Given the description of an element on the screen output the (x, y) to click on. 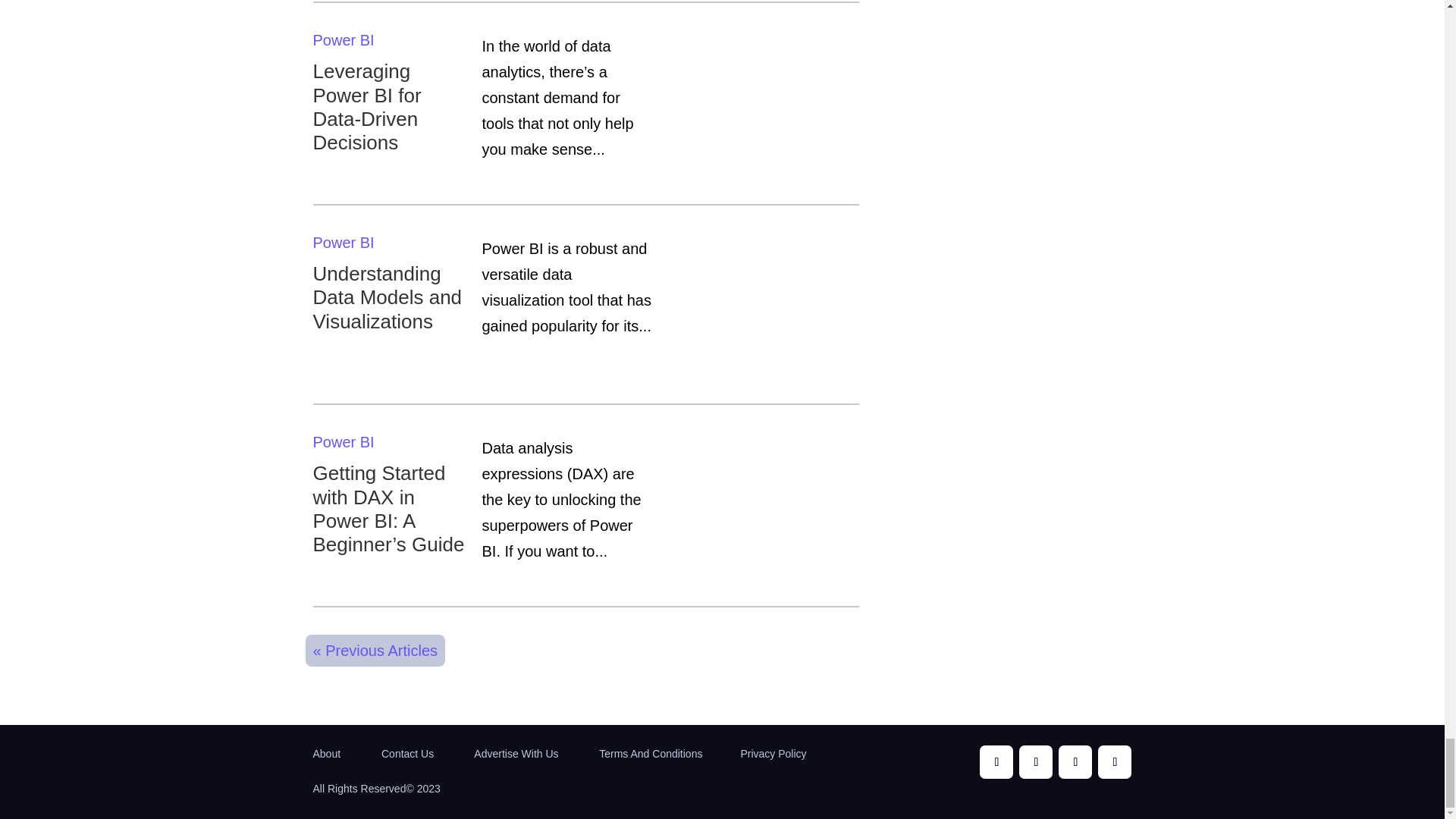
Follow on Youtube (1035, 761)
Follow on LinkedIn (1114, 761)
Follow on X (1075, 761)
Follow on Facebook (996, 761)
